Given the description of an element on the screen output the (x, y) to click on. 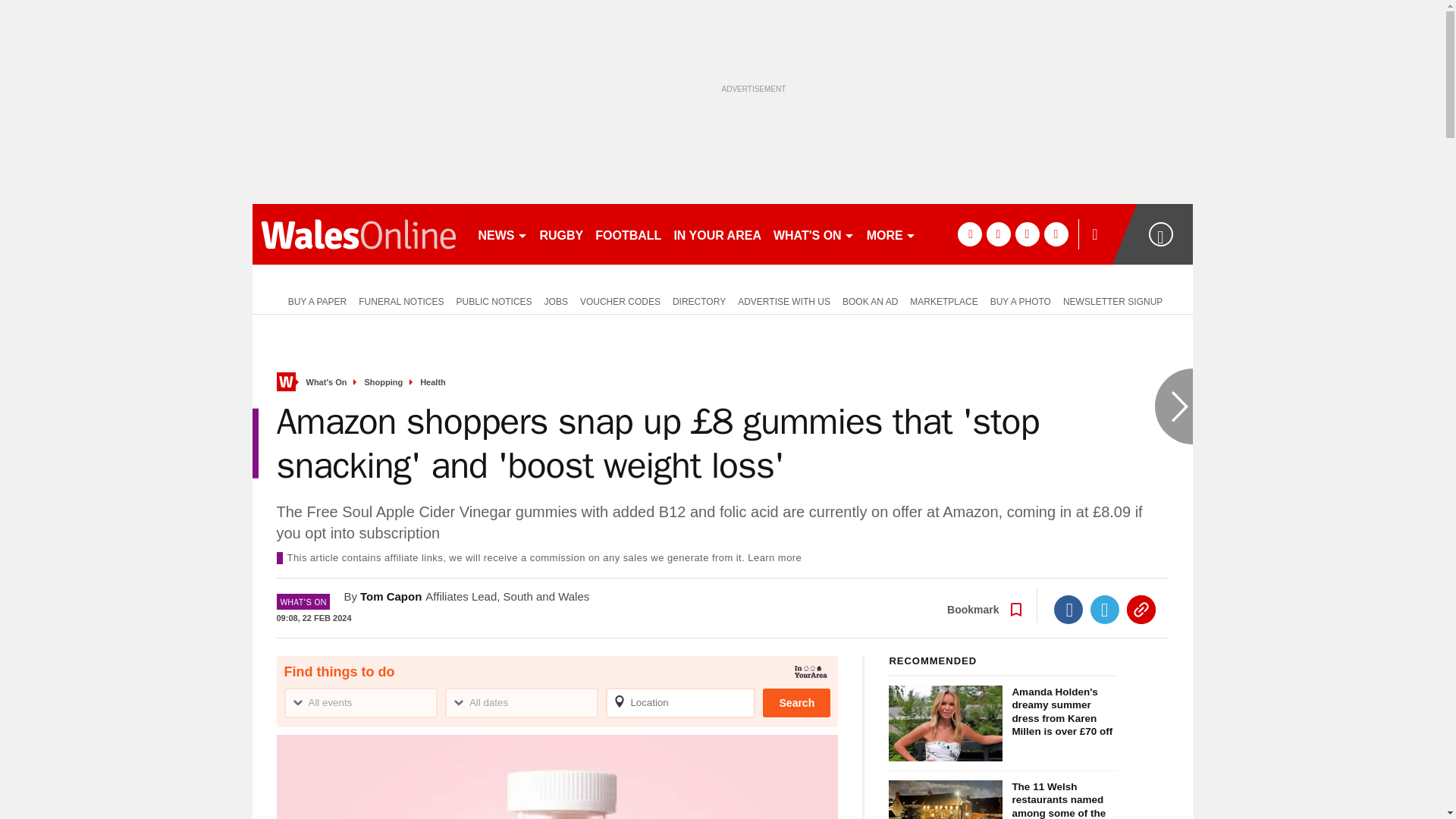
Facebook (1068, 609)
IN YOUR AREA (716, 233)
RUGBY (561, 233)
WHAT'S ON (813, 233)
FOOTBALL (627, 233)
walesonline (357, 233)
Twitter (1104, 609)
instagram (1055, 233)
twitter (997, 233)
facebook (968, 233)
MORE (890, 233)
NEWS (501, 233)
pinterest (1026, 233)
